Given the description of an element on the screen output the (x, y) to click on. 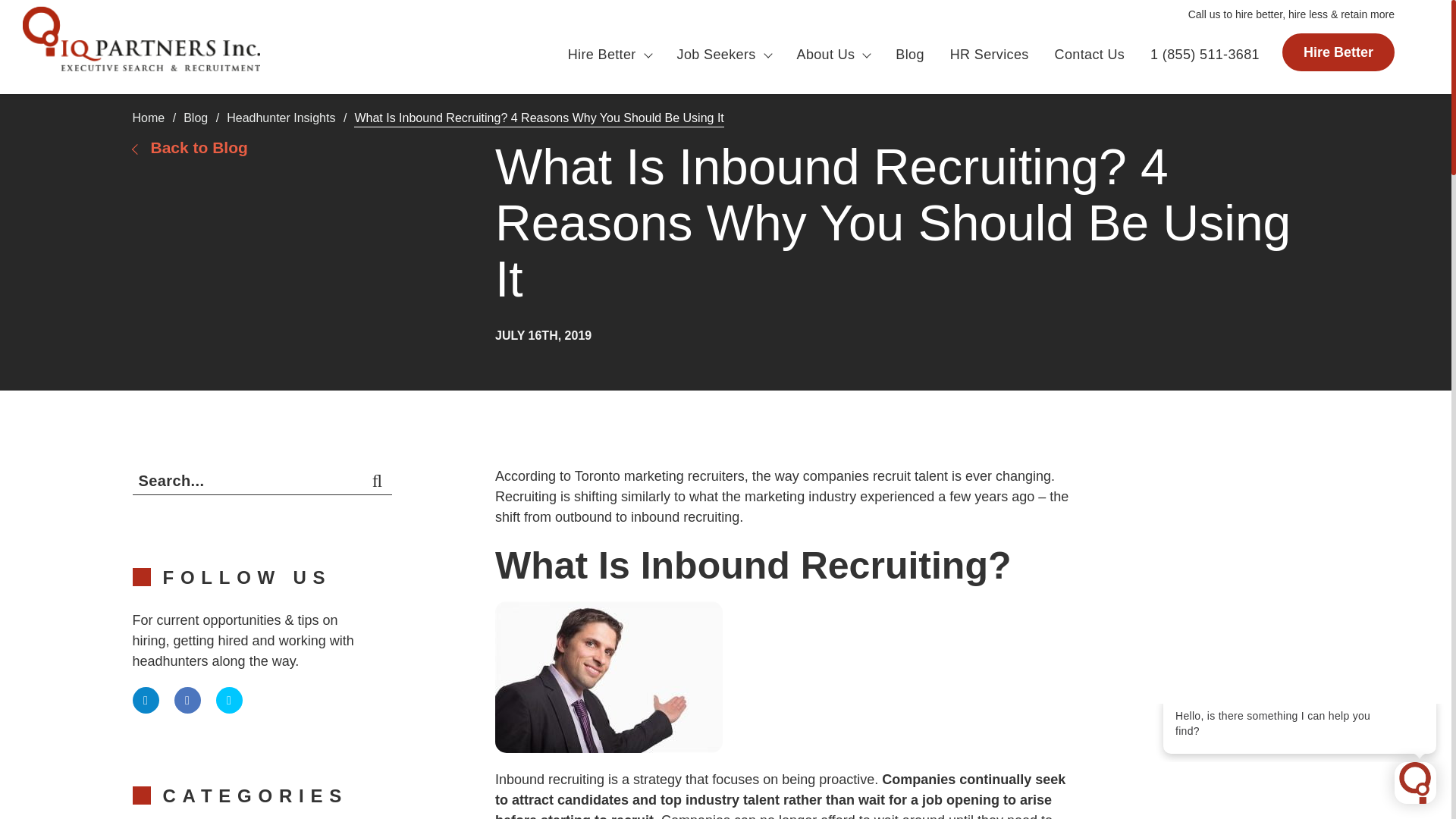
IQ Partners (1299, 732)
About Us (833, 55)
HR Services (989, 55)
Hire Better (608, 55)
Contact Us (1089, 55)
Job Seekers (724, 55)
